Given the description of an element on the screen output the (x, y) to click on. 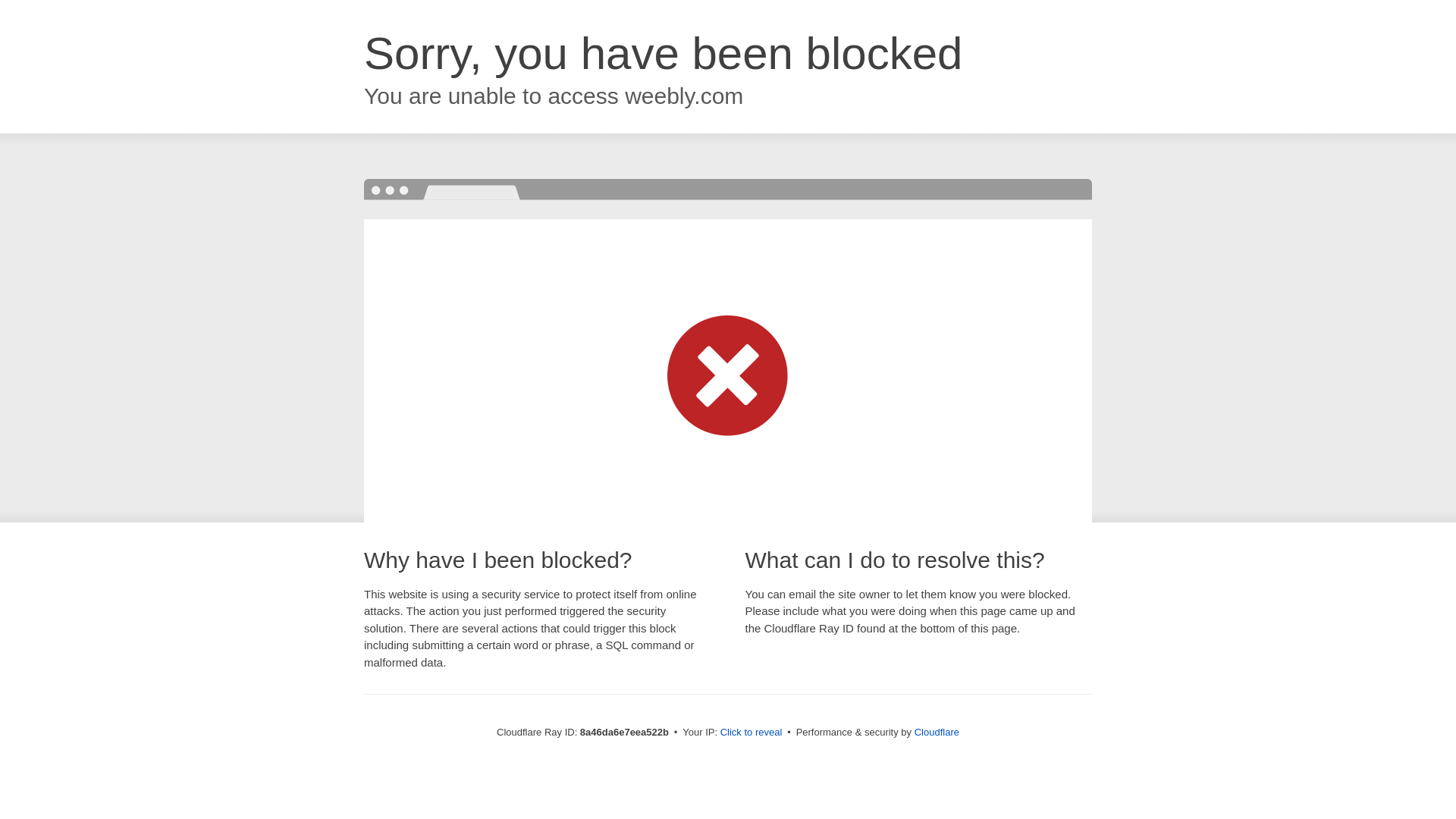
Cloudflare (936, 731)
Click to reveal (751, 732)
